Given the description of an element on the screen output the (x, y) to click on. 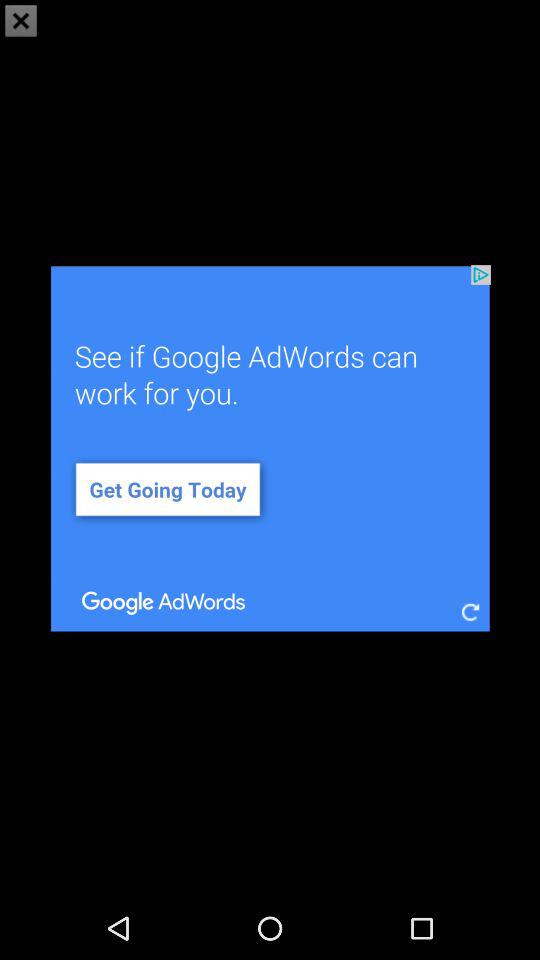
launch the icon at the center (270, 448)
